Given the description of an element on the screen output the (x, y) to click on. 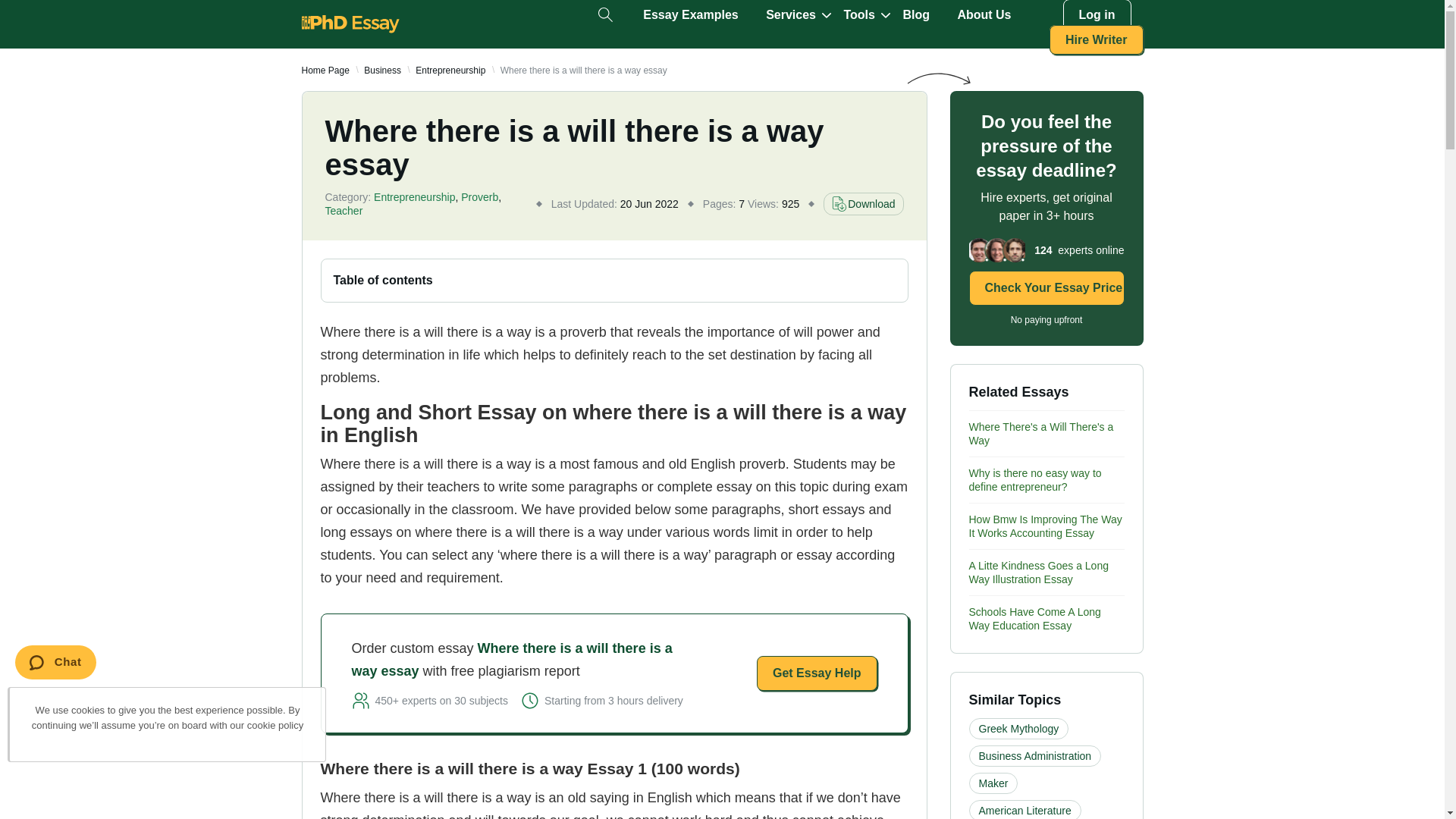
Blog (916, 15)
Services (790, 15)
Essay Examples (690, 15)
Log in (1096, 15)
Business (382, 70)
About Us (983, 15)
Hire Writer (1095, 39)
Entrepreneurship (449, 70)
Tools (859, 15)
Home Page (325, 70)
Download (863, 203)
